Given the description of an element on the screen output the (x, y) to click on. 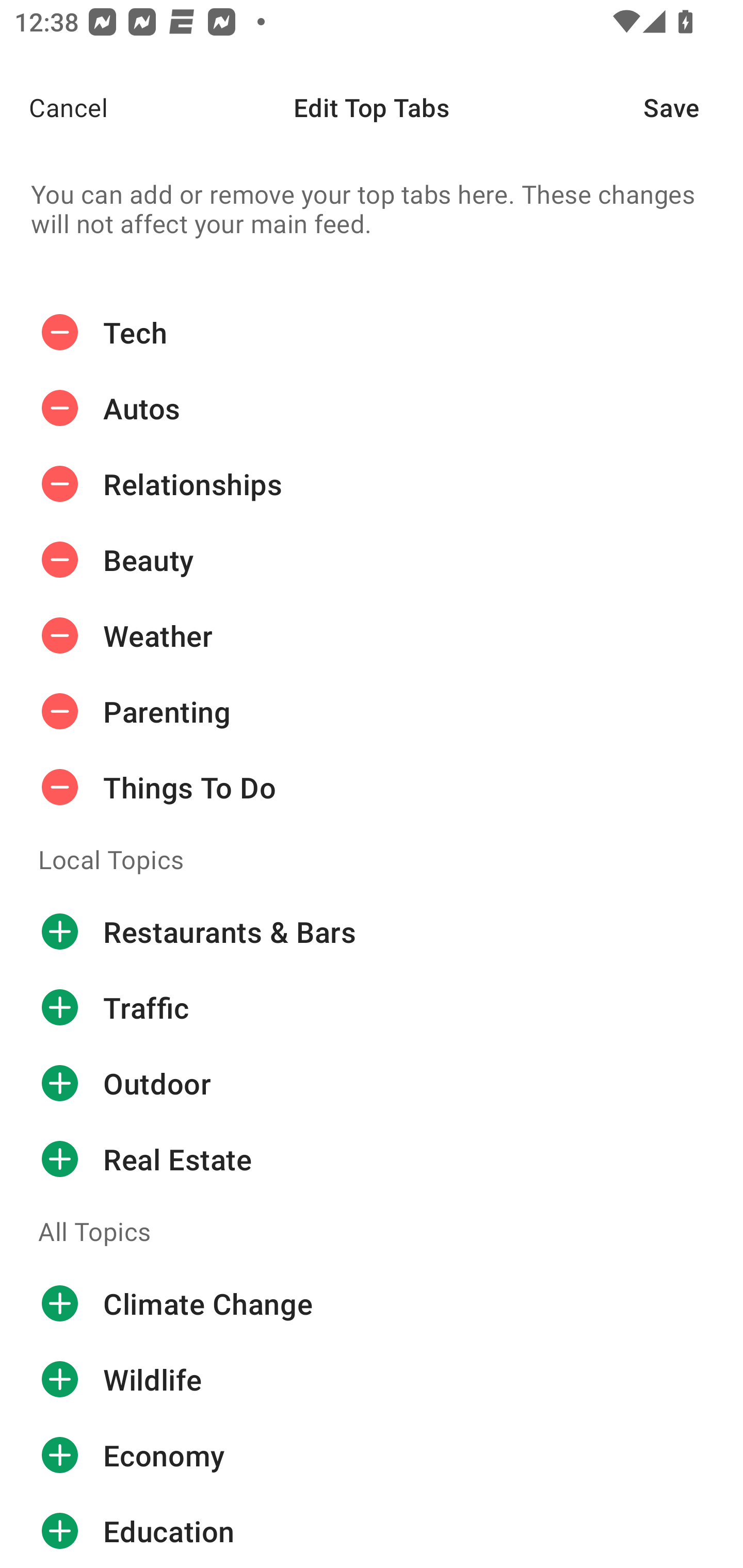
Cancel (53, 106)
Save (693, 106)
Tech (371, 332)
Autos (371, 408)
Relationships (371, 484)
Beauty (371, 559)
Weather (371, 635)
Parenting (371, 711)
Things To Do (371, 786)
Restaurants & Bars (371, 931)
Traffic (371, 1007)
Outdoor (371, 1083)
Real Estate (371, 1158)
Climate Change (371, 1303)
Wildlife (371, 1379)
Economy (371, 1454)
Education (371, 1530)
